Given the description of an element on the screen output the (x, y) to click on. 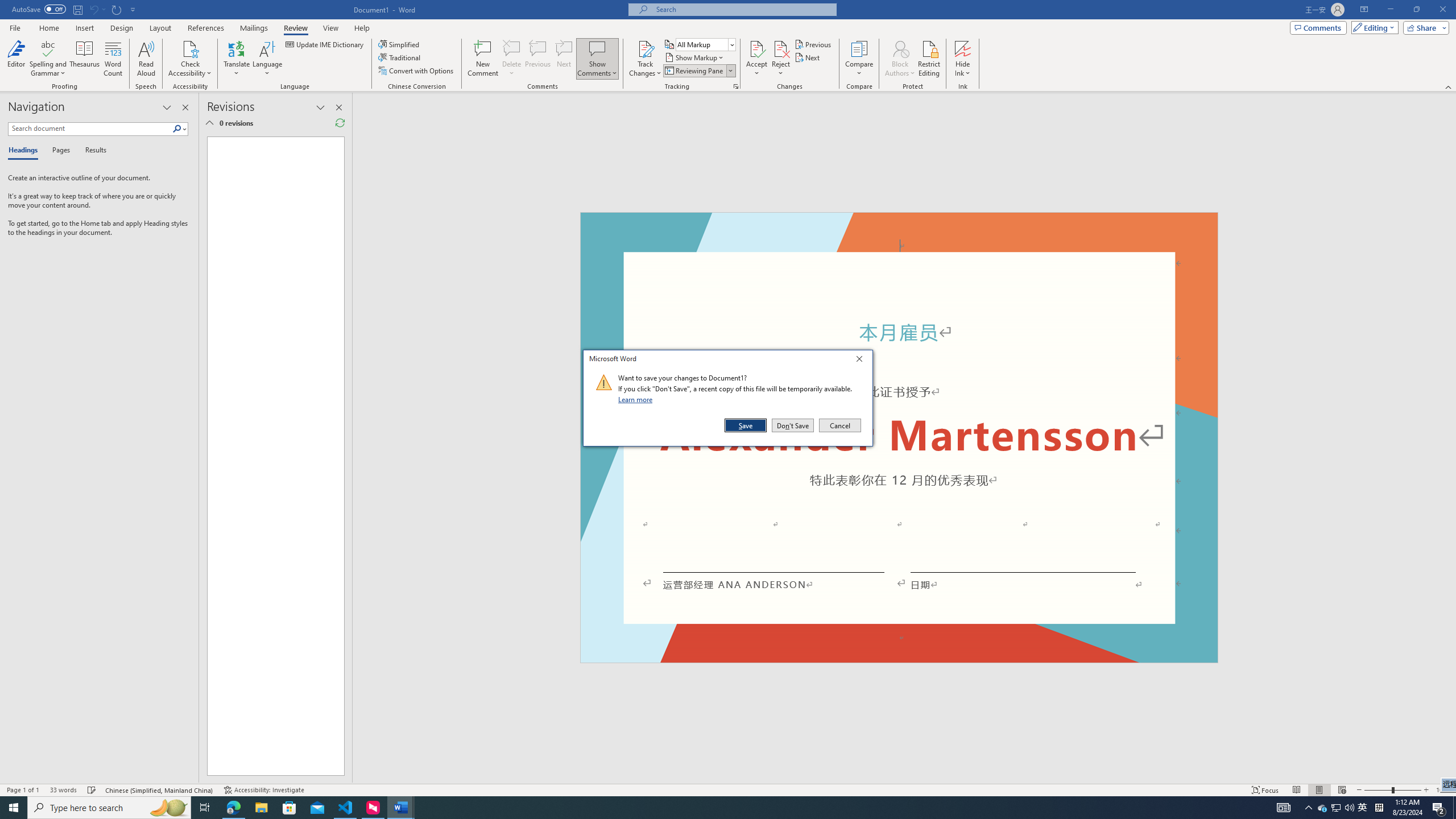
Can't Undo (96, 9)
Read Aloud (145, 58)
Compare (859, 58)
Hide Ink (962, 58)
File Tab (15, 27)
Mailings (253, 28)
Zoom Out (1377, 790)
Class: MsoCommandBar (728, 789)
Display for Review (705, 44)
References (205, 28)
Reject (780, 58)
Search document (89, 128)
Zoom 100% (1443, 790)
Accept (1335, 807)
